Given the description of an element on the screen output the (x, y) to click on. 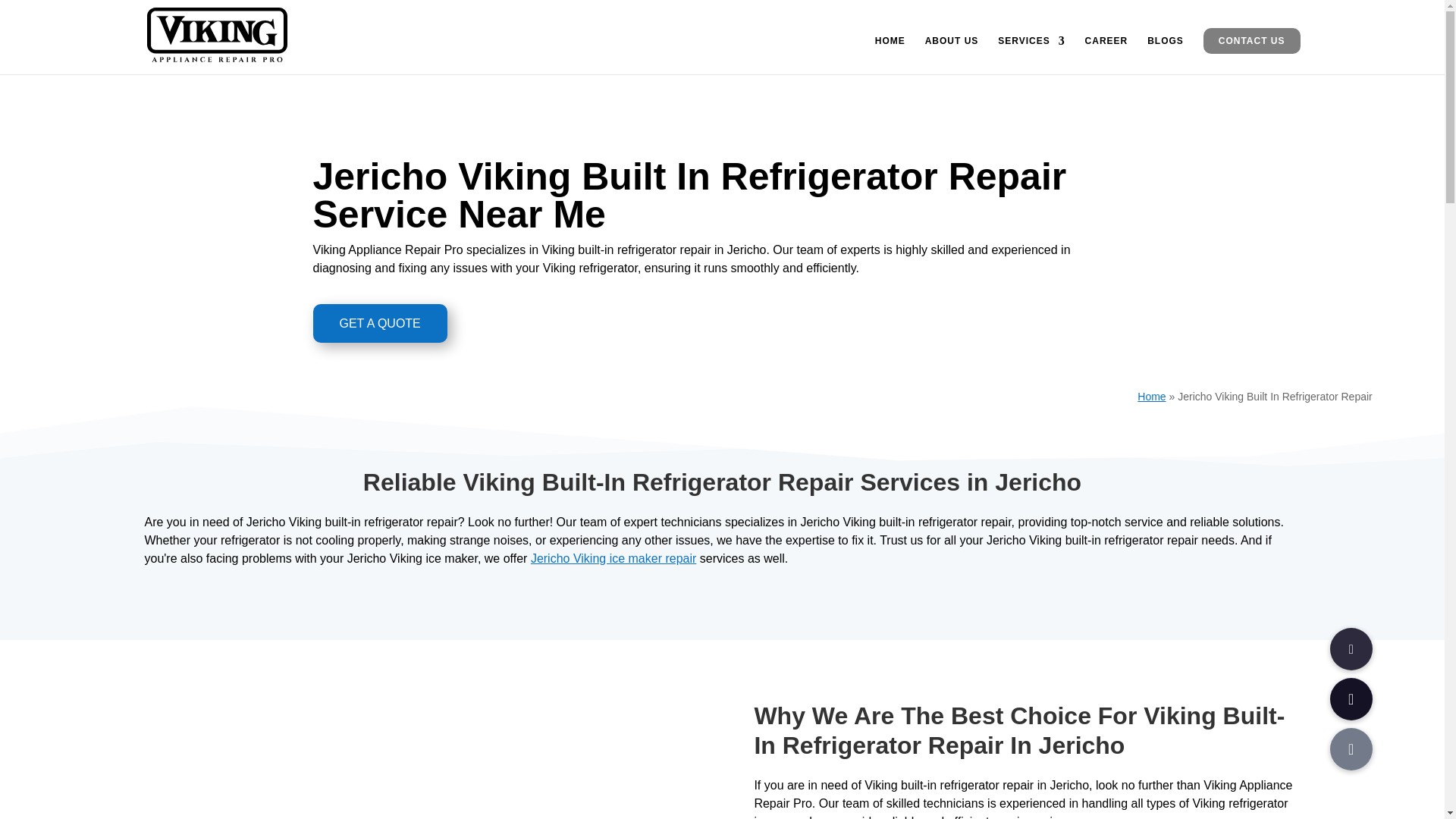
Home (1151, 396)
ABOUT US (951, 55)
HOME (890, 55)
BLOGS (1165, 55)
SERVICES (1030, 55)
CAREER (1106, 55)
GET A QUOTE (379, 323)
Jericho Viking ice maker repair (613, 558)
CONTACT US (1252, 40)
